Given the description of an element on the screen output the (x, y) to click on. 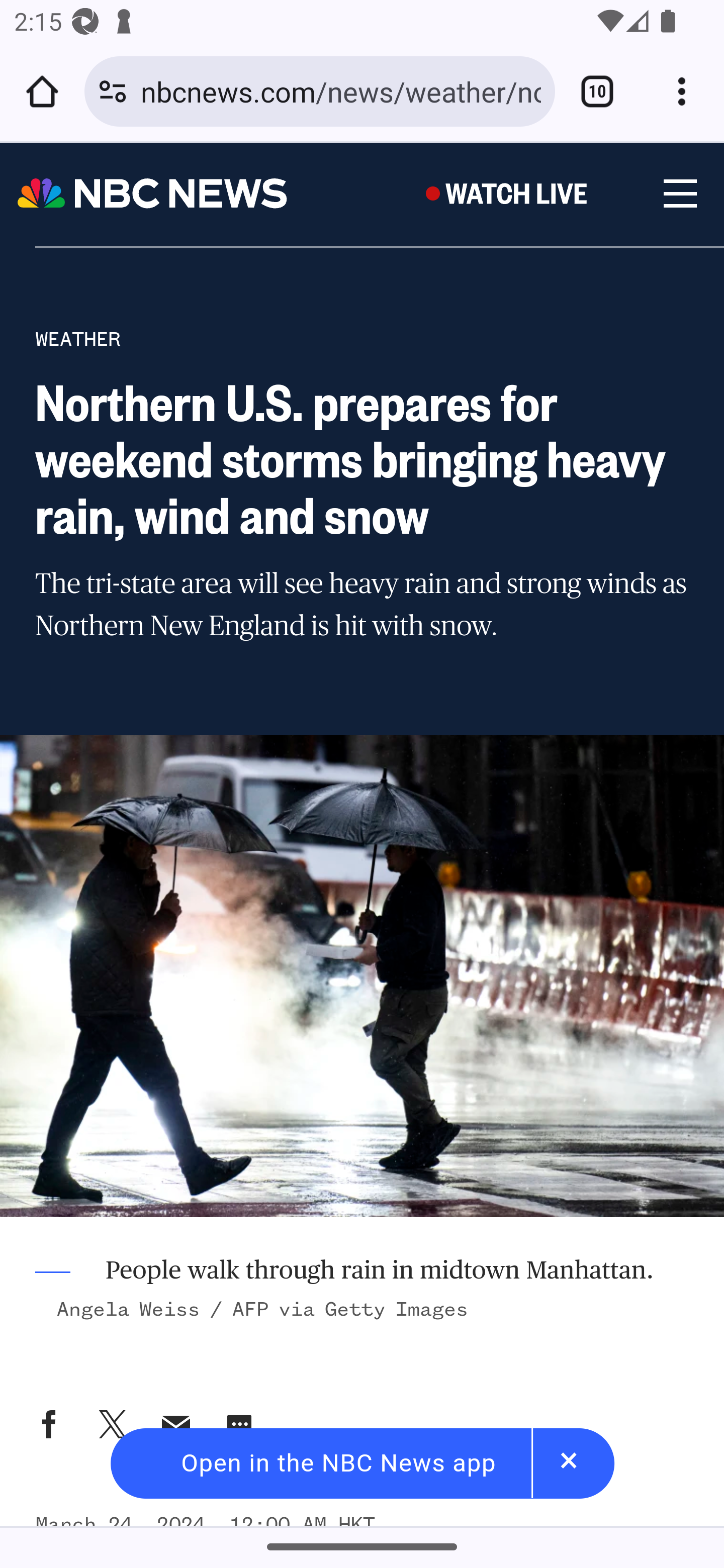
Open the home page (42, 91)
Connection is secure (112, 91)
Switch or close tabs (597, 91)
Customize and control Google Chrome (681, 91)
NBC News Logo (152, 194)
news navigation and search (678, 194)
Watch Live button Watch live (511, 193)
WEATHER (77, 339)
 (49, 1424)
 (112, 1424)
 (176, 1424)
 (239, 1424)
